Given the description of an element on the screen output the (x, y) to click on. 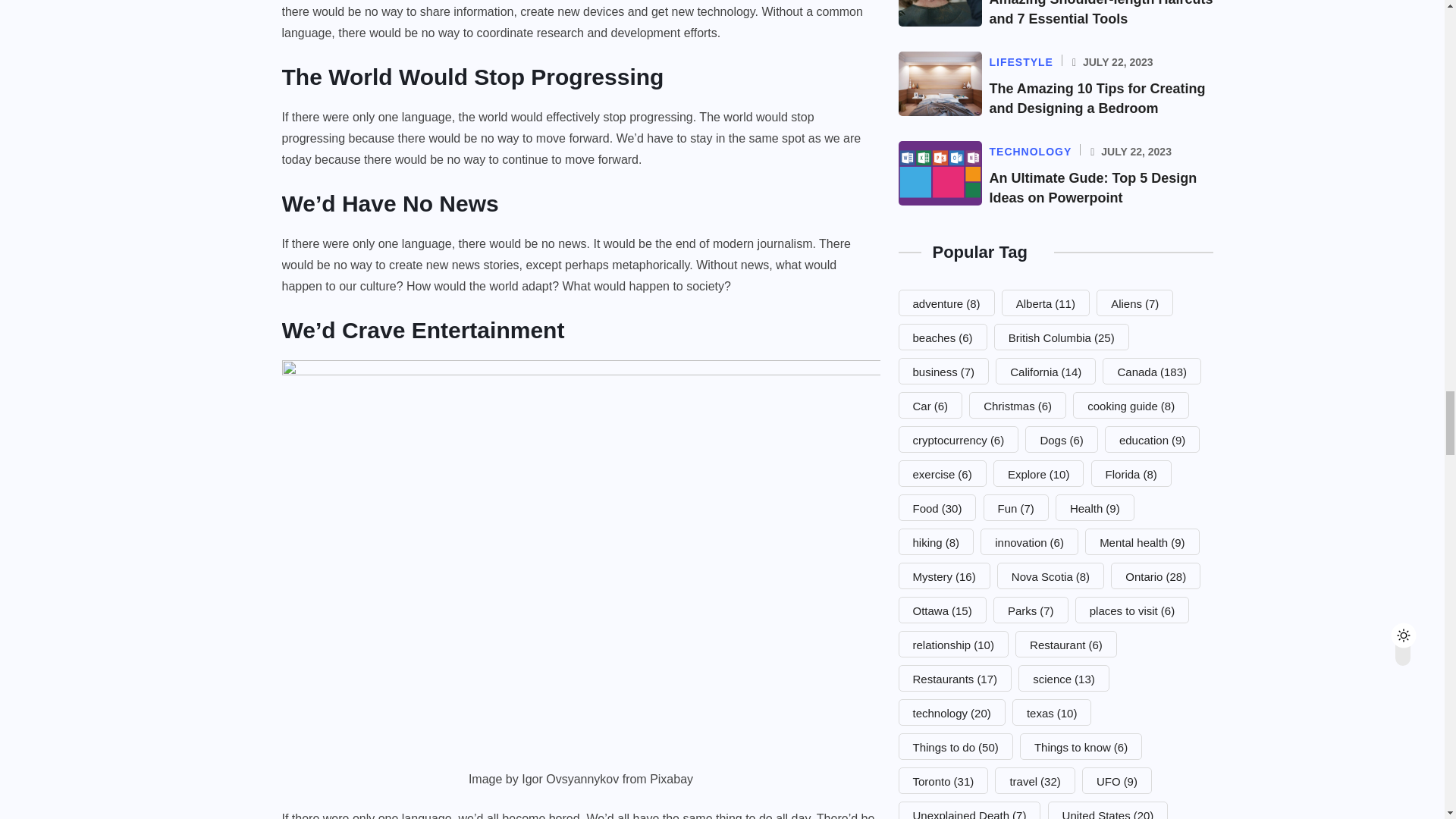
The Amazing 10 Tips for Creating and Designing a Bedroom (1096, 98)
Amazing Shoulder-length Haircuts and 7 Essential Tools (1100, 13)
An Ultimate Gude: Top 5 Design Ideas on Powerpoint (1092, 187)
